Given the description of an element on the screen output the (x, y) to click on. 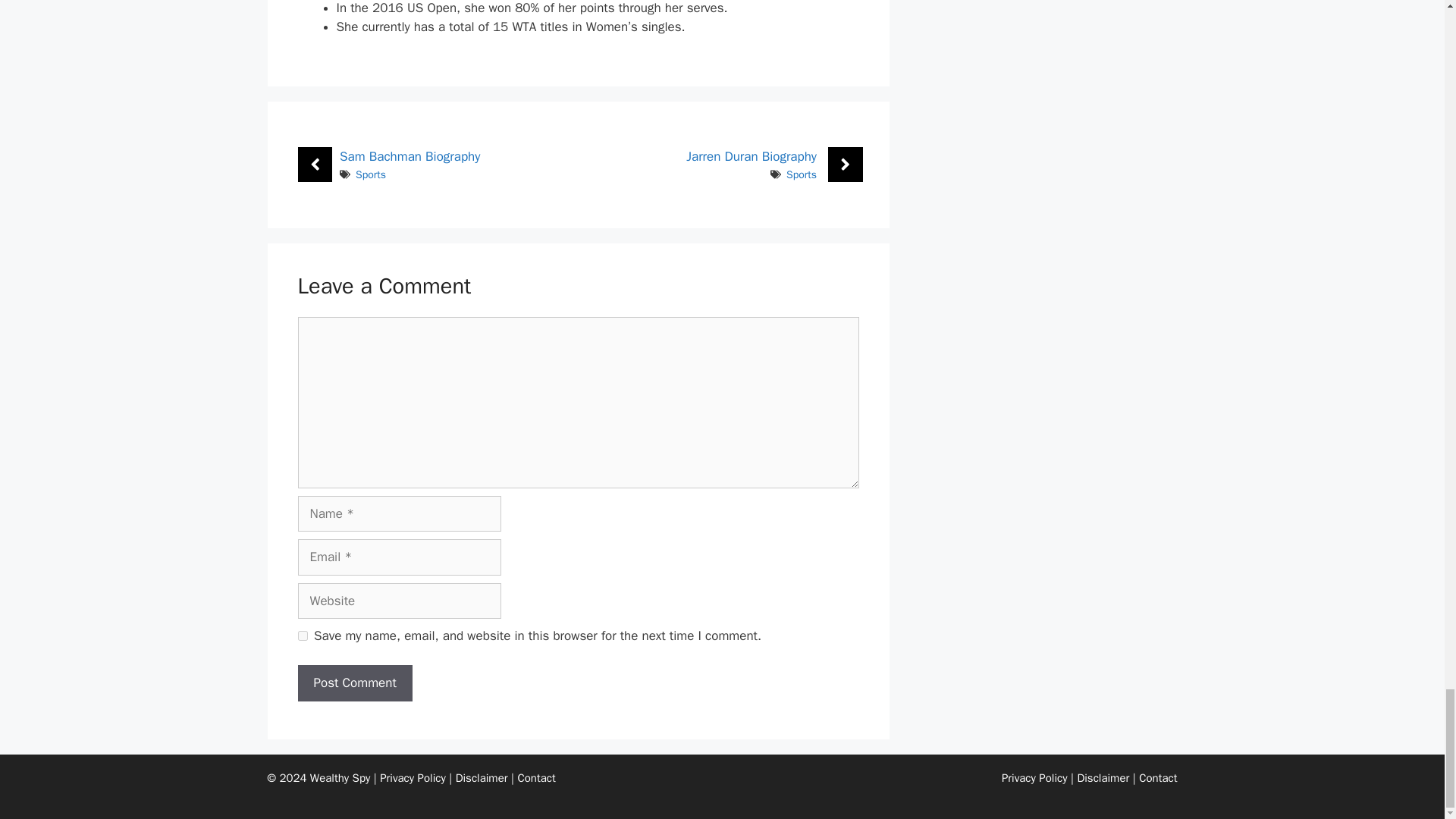
yes (302, 635)
Sports (801, 174)
Sam Bachman Biography (409, 156)
Jarren Duran Biography (750, 156)
Post Comment (354, 683)
Post Comment (354, 683)
Sports (370, 174)
